Given the description of an element on the screen output the (x, y) to click on. 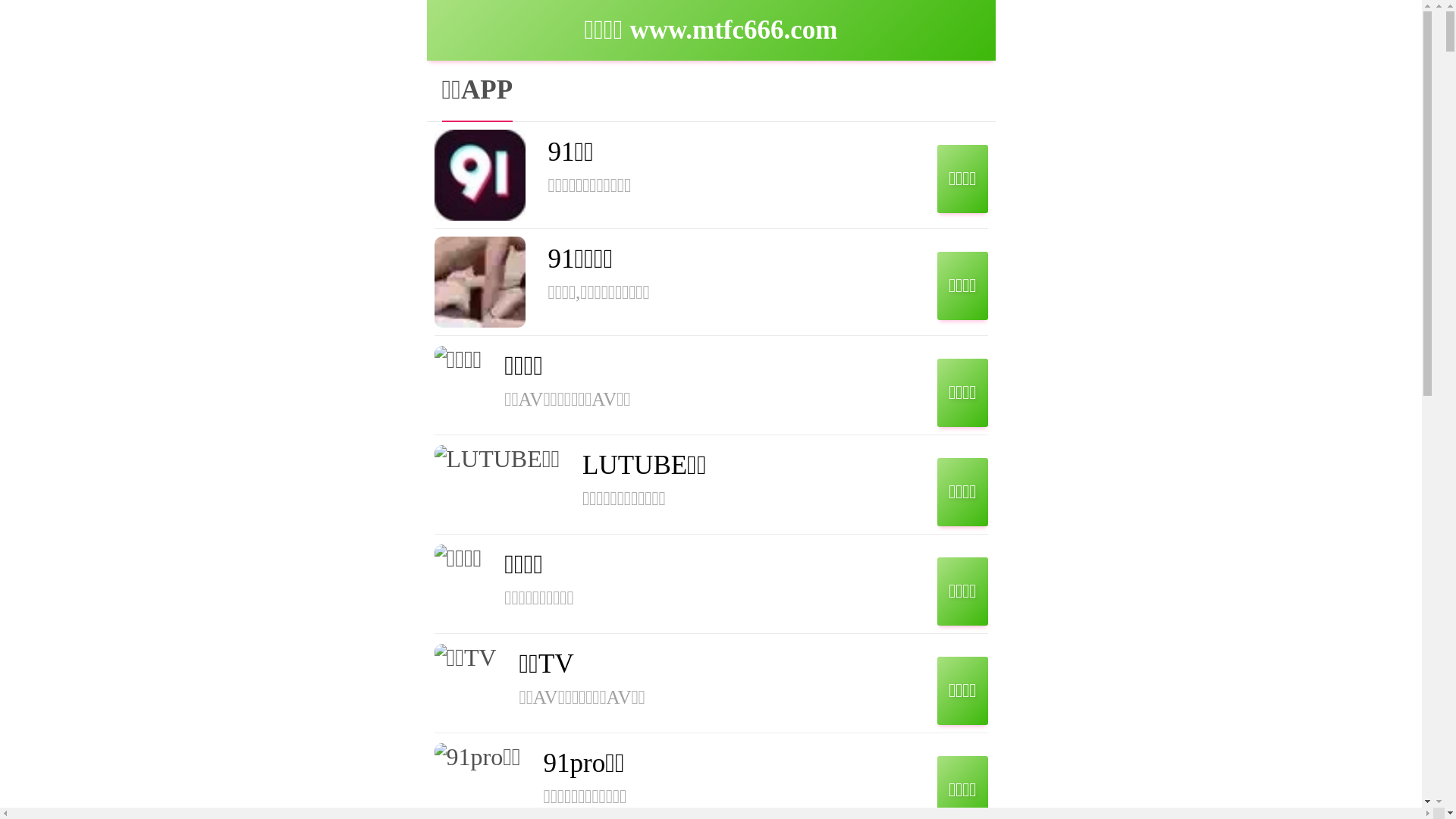
1 Element type: text (1215, 253)
RSS Element type: text (1228, 290)
Comments RSS Element type: text (1247, 299)
admin Element type: text (502, 191)
